Given the description of an element on the screen output the (x, y) to click on. 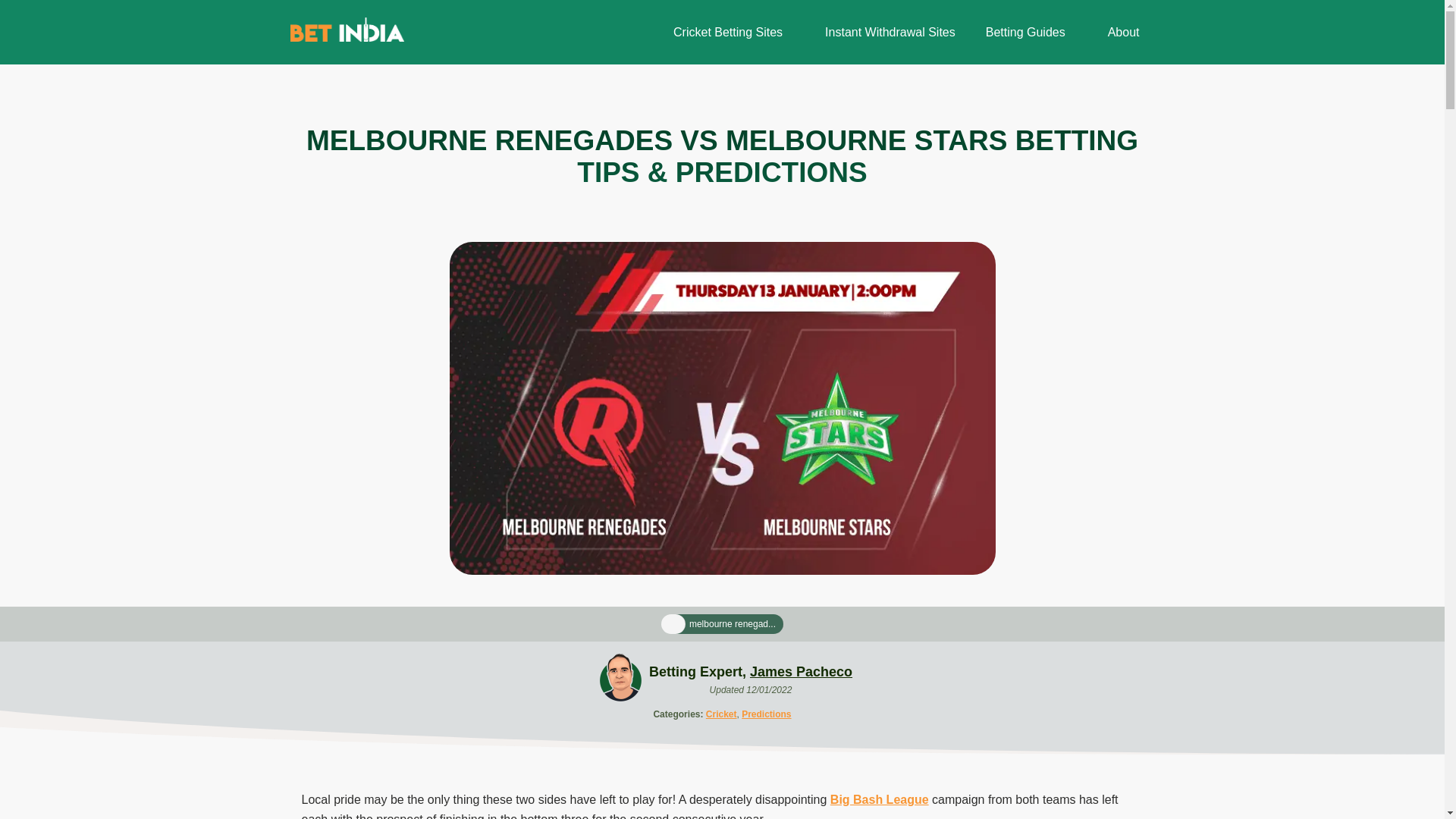
About (1123, 32)
Cricket (721, 714)
Instant Withdrawal Sites (890, 32)
Betting Expert, (699, 671)
Big Bash League (878, 799)
Cricket Betting Sites (727, 32)
Predictions (765, 714)
James Pacheco (800, 671)
Betting Guides (1025, 32)
